Given the description of an element on the screen output the (x, y) to click on. 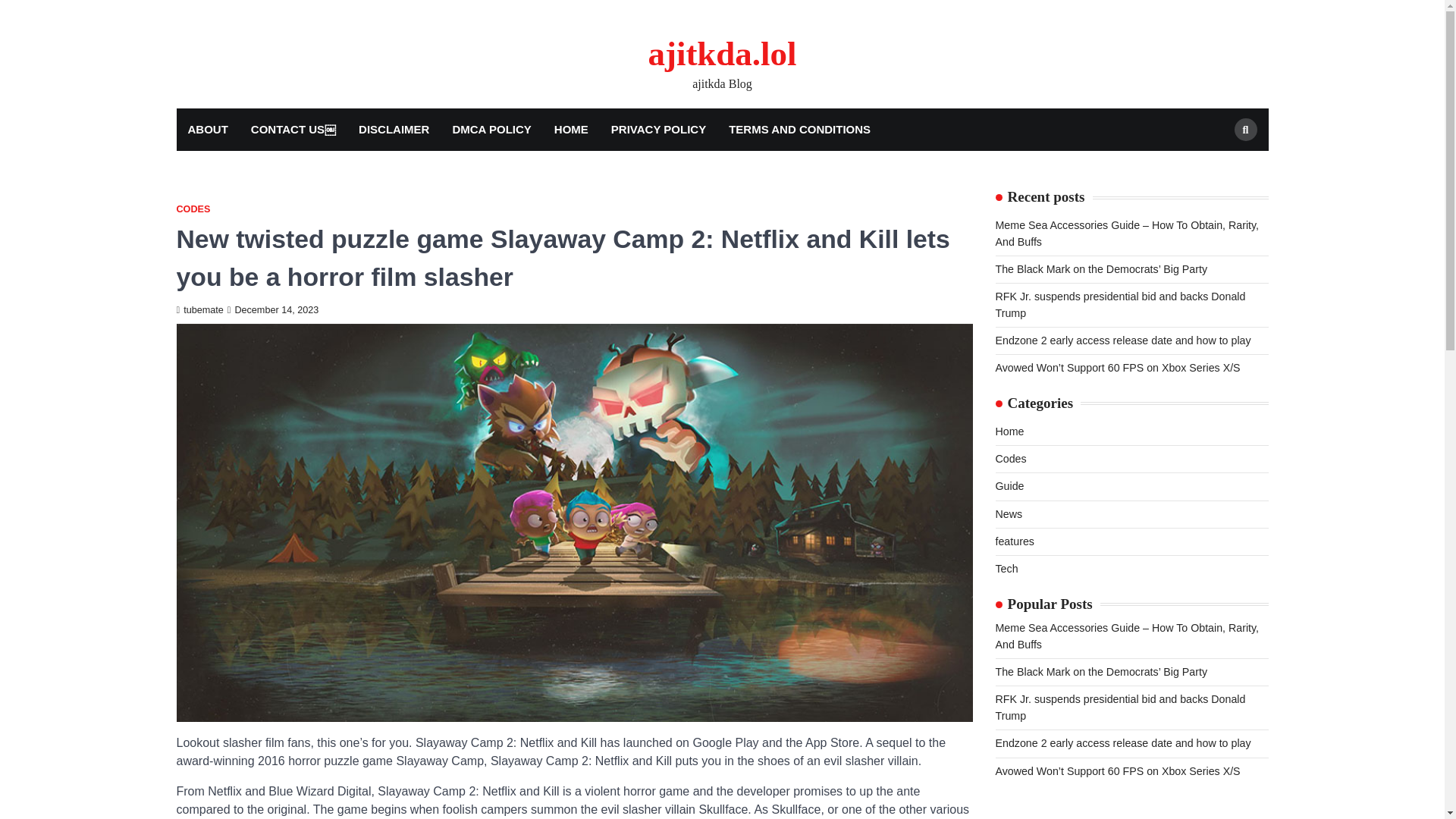
Search (1245, 128)
DISCLAIMER (394, 129)
PRIVACY POLICY (658, 129)
CODES (192, 209)
HOME (571, 129)
TERMS AND CONDITIONS (799, 129)
Endzone 2 early access release date and how to play (1122, 743)
RFK Jr. suspends presidential bid and backs Donald Trump (1119, 706)
Endzone 2 early access release date and how to play (1122, 340)
